Given the description of an element on the screen output the (x, y) to click on. 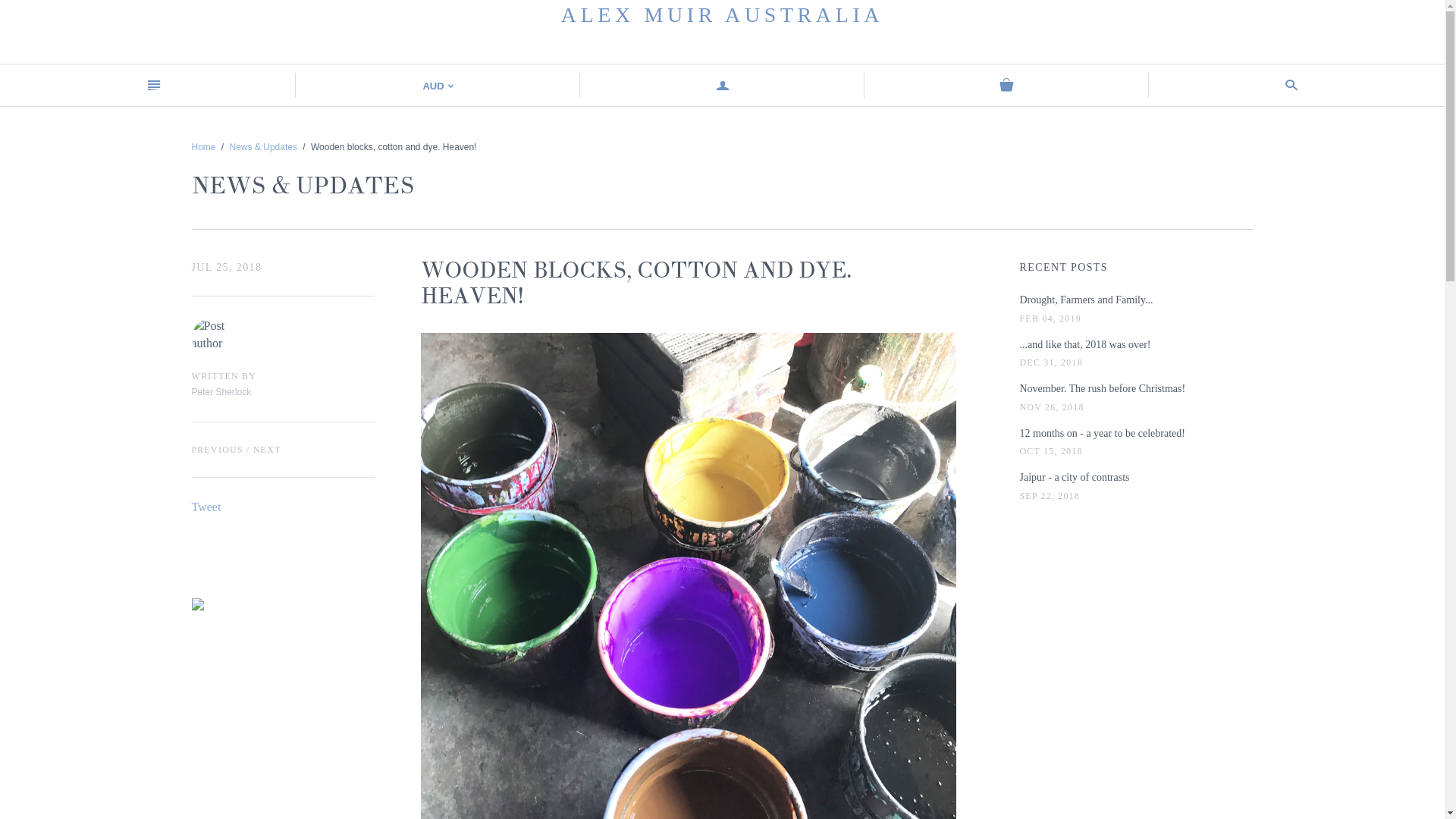
a Element type: text (722, 85)
PREVIOUS Element type: text (216, 449)
Jaipur - a city of contrasts Element type: text (1074, 477)
November. The rush before Christmas! Element type: text (1102, 388)
NEXT Element type: text (267, 449)
...and like that, 2018 was over! Element type: text (1084, 344)
NEWS & UPDATES Element type: text (302, 185)
Drought, Farmers and Family... Element type: text (1085, 299)
12 months on - a year to be celebrated! Element type: text (1101, 433)
News & Updates Element type: text (263, 146)
ALEX MUIR AUSTRALIA Element type: text (722, 14)
Tweet Element type: text (205, 506)
Home Element type: text (203, 146)
